Given the description of an element on the screen output the (x, y) to click on. 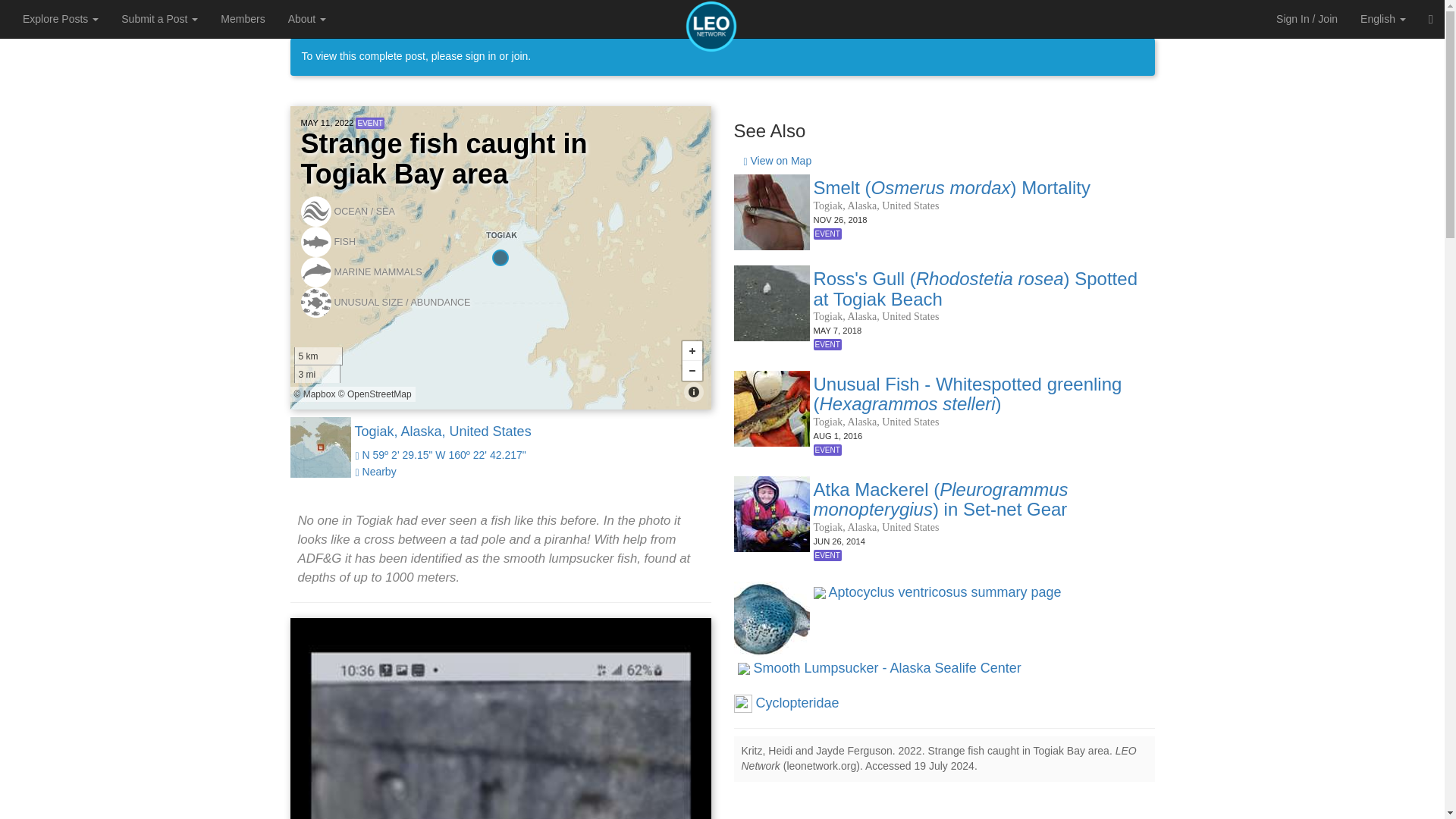
Zoom out (691, 370)
Submit a Post (159, 18)
Members (242, 18)
About (306, 18)
Explore Posts (60, 18)
English (1382, 18)
Zoom in (691, 351)
